Given the description of an element on the screen output the (x, y) to click on. 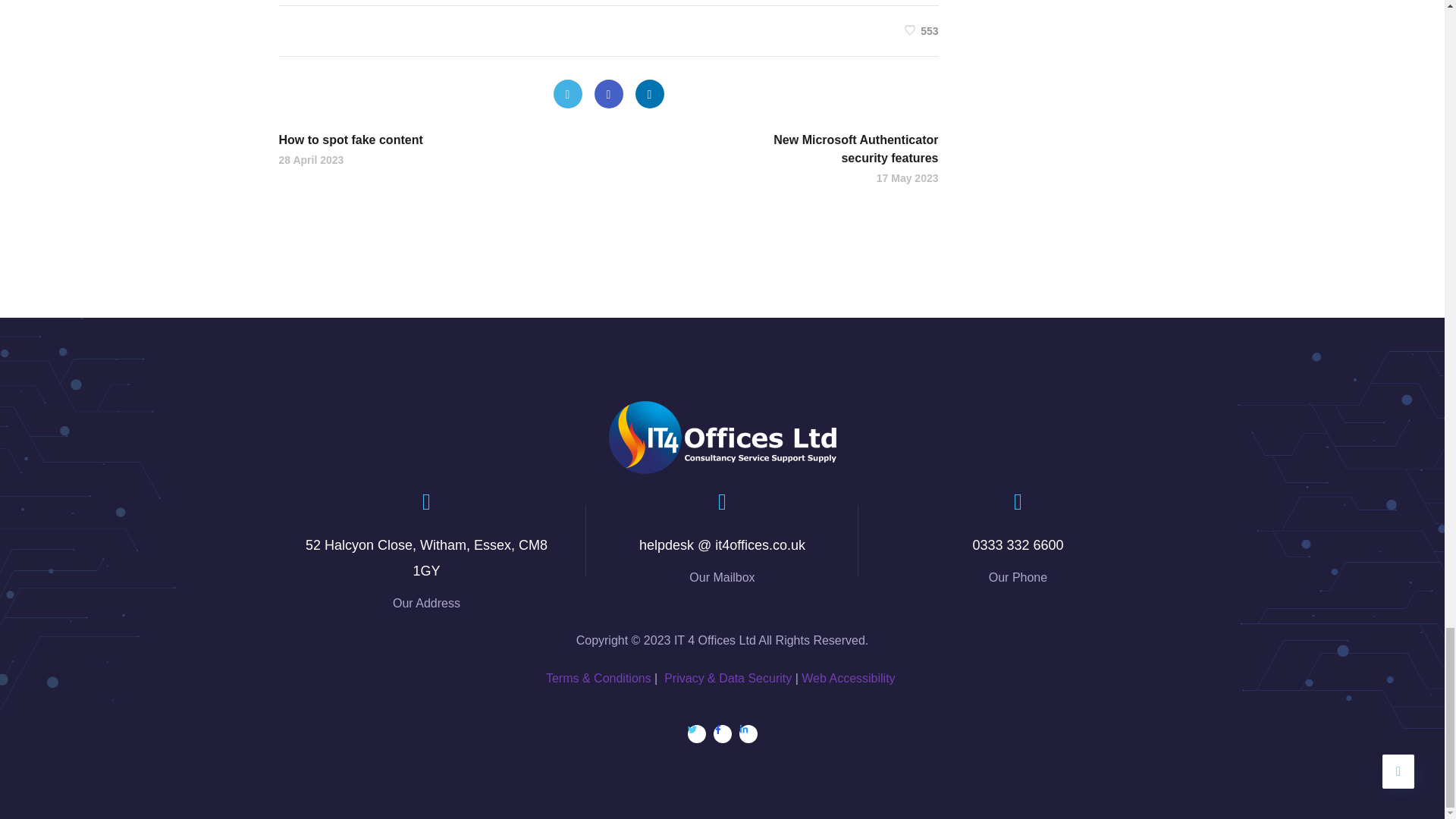
Like (920, 30)
Facebook (608, 93)
Twitter (567, 93)
LinkedIn (648, 93)
